Given the description of an element on the screen output the (x, y) to click on. 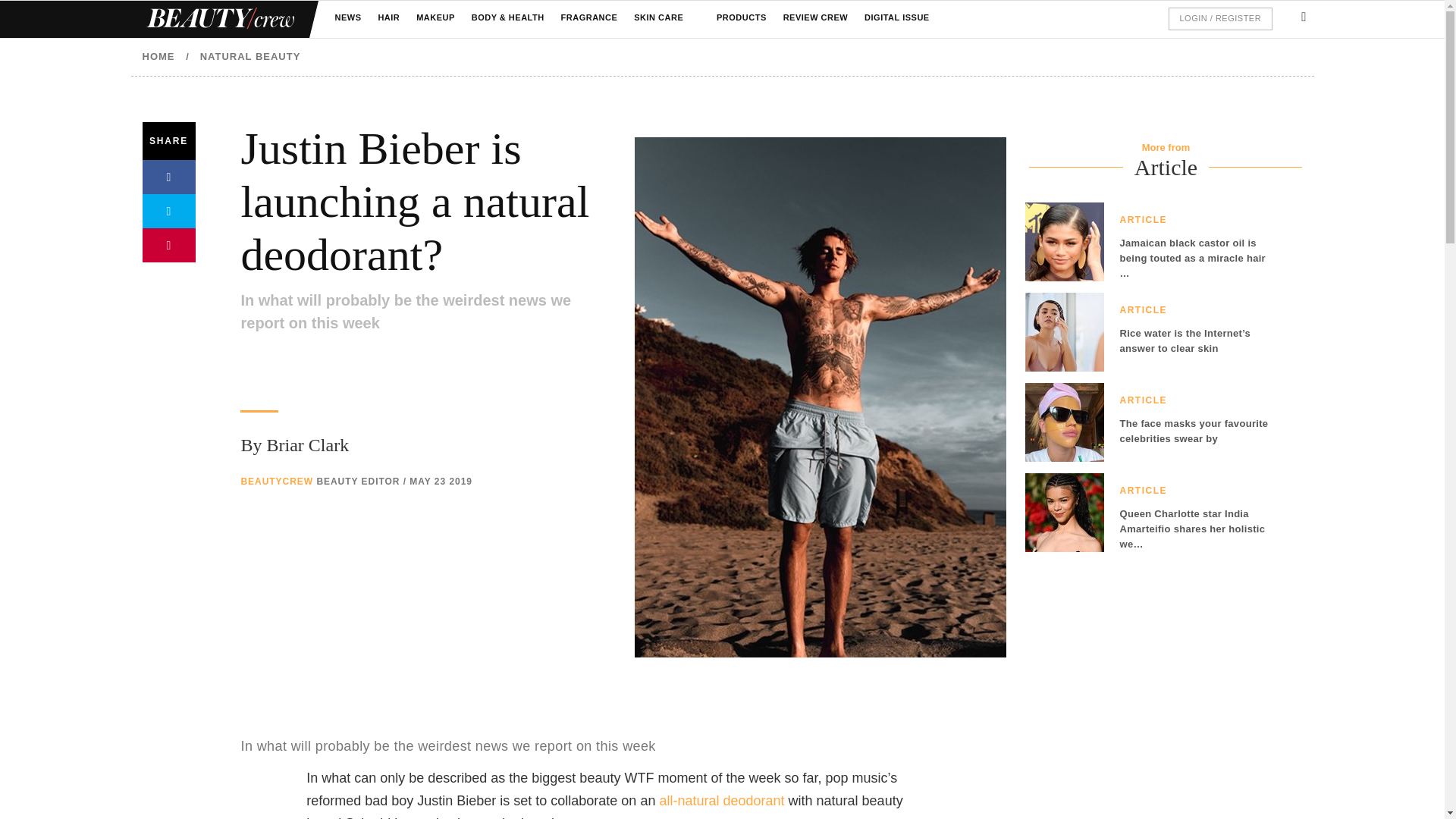
MAKEUP (435, 18)
BeautyCrew (721, 800)
HAIR (387, 18)
NEWS (347, 18)
Home (218, 18)
